Given the description of an element on the screen output the (x, y) to click on. 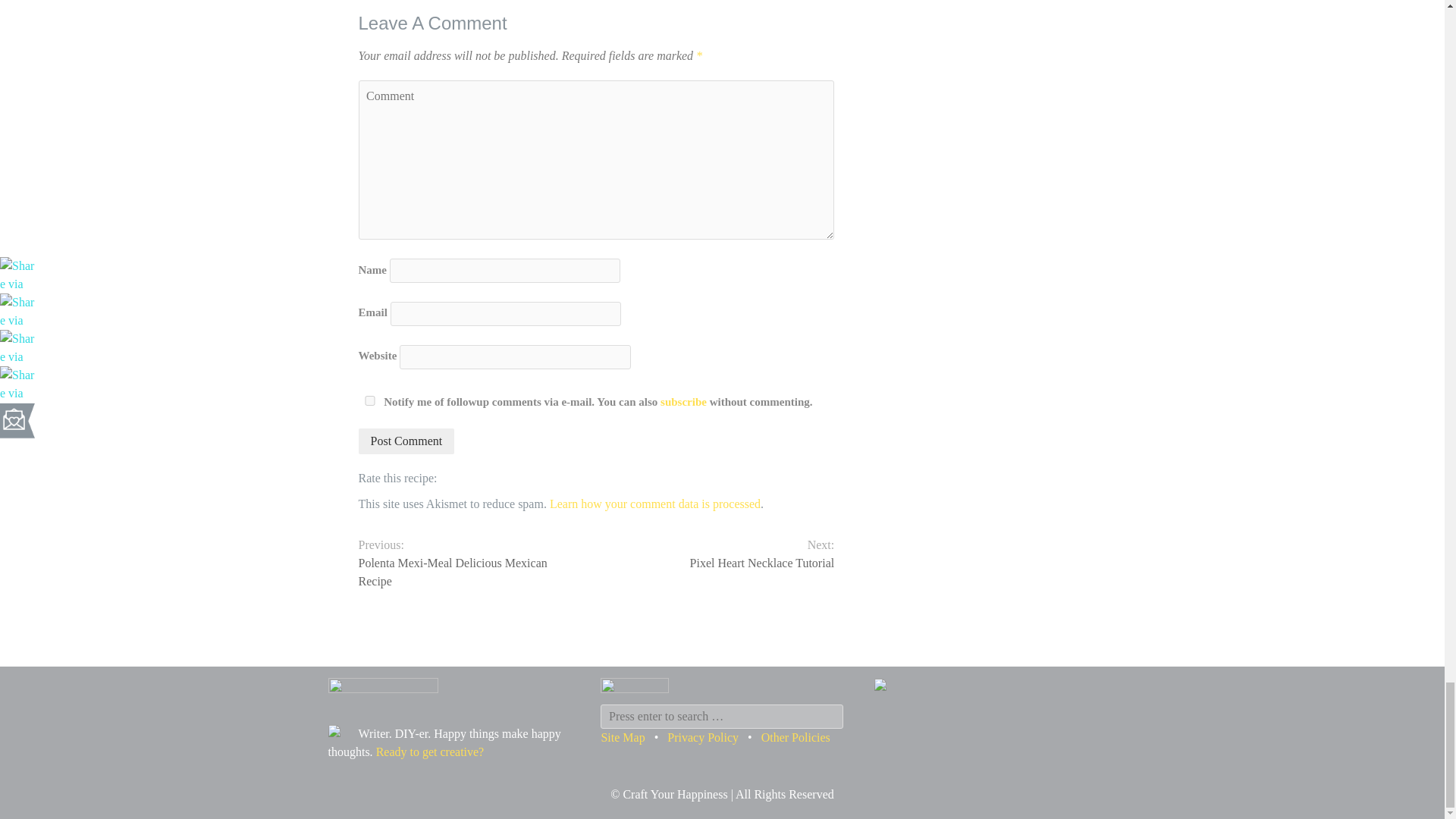
Search for: (721, 716)
Post Comment (406, 441)
yes (369, 400)
